Given the description of an element on the screen output the (x, y) to click on. 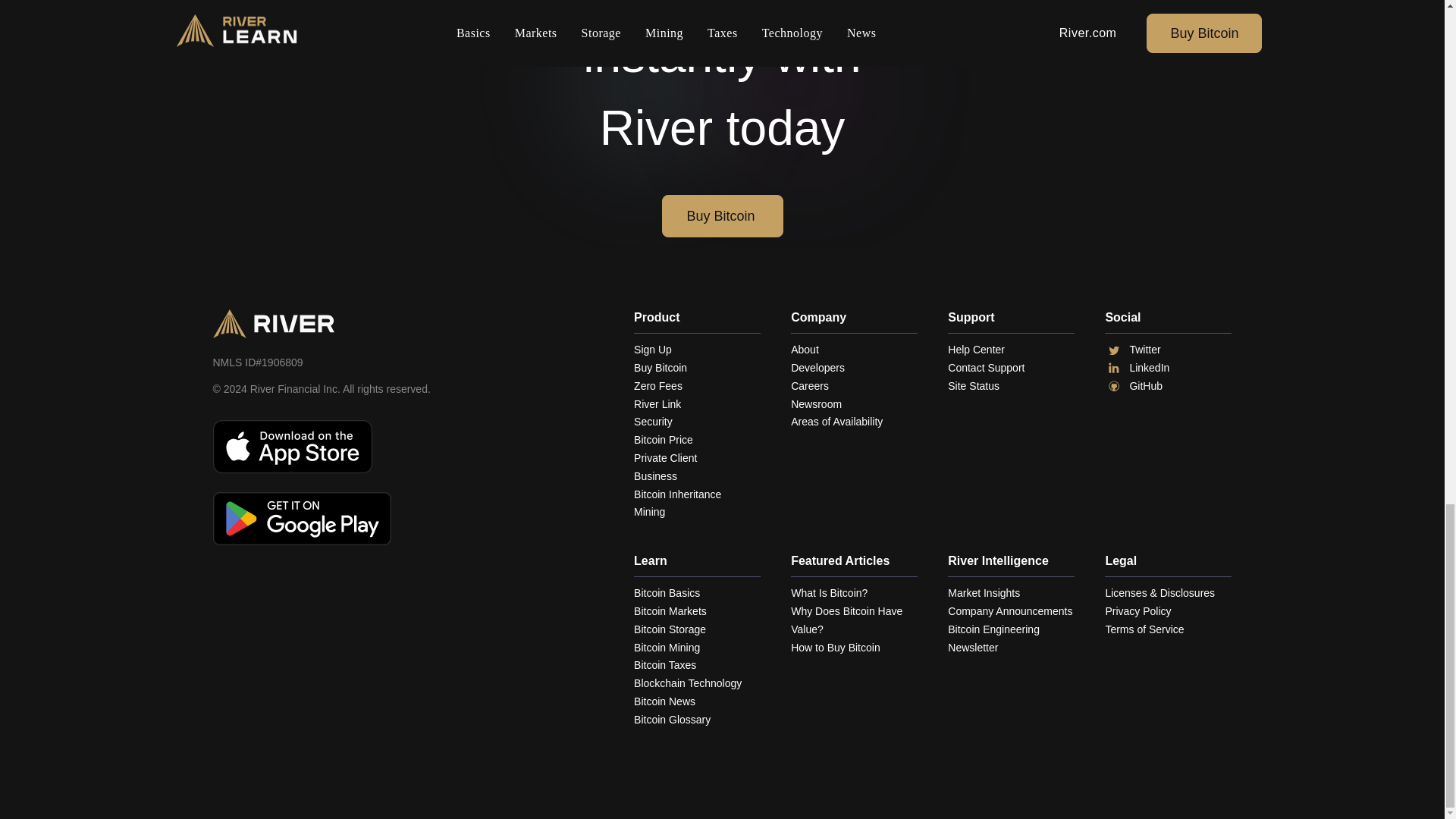
About (853, 350)
Bitcoin Inheritance (696, 495)
River Link (696, 404)
Security (696, 422)
Buy Bitcoin (696, 368)
Business (696, 476)
Buy Bitcoin (722, 215)
Private Client (696, 458)
Zero Fees (696, 386)
Sign Up (696, 350)
Mining (696, 512)
Bitcoin Price (696, 440)
